Given the description of an element on the screen output the (x, y) to click on. 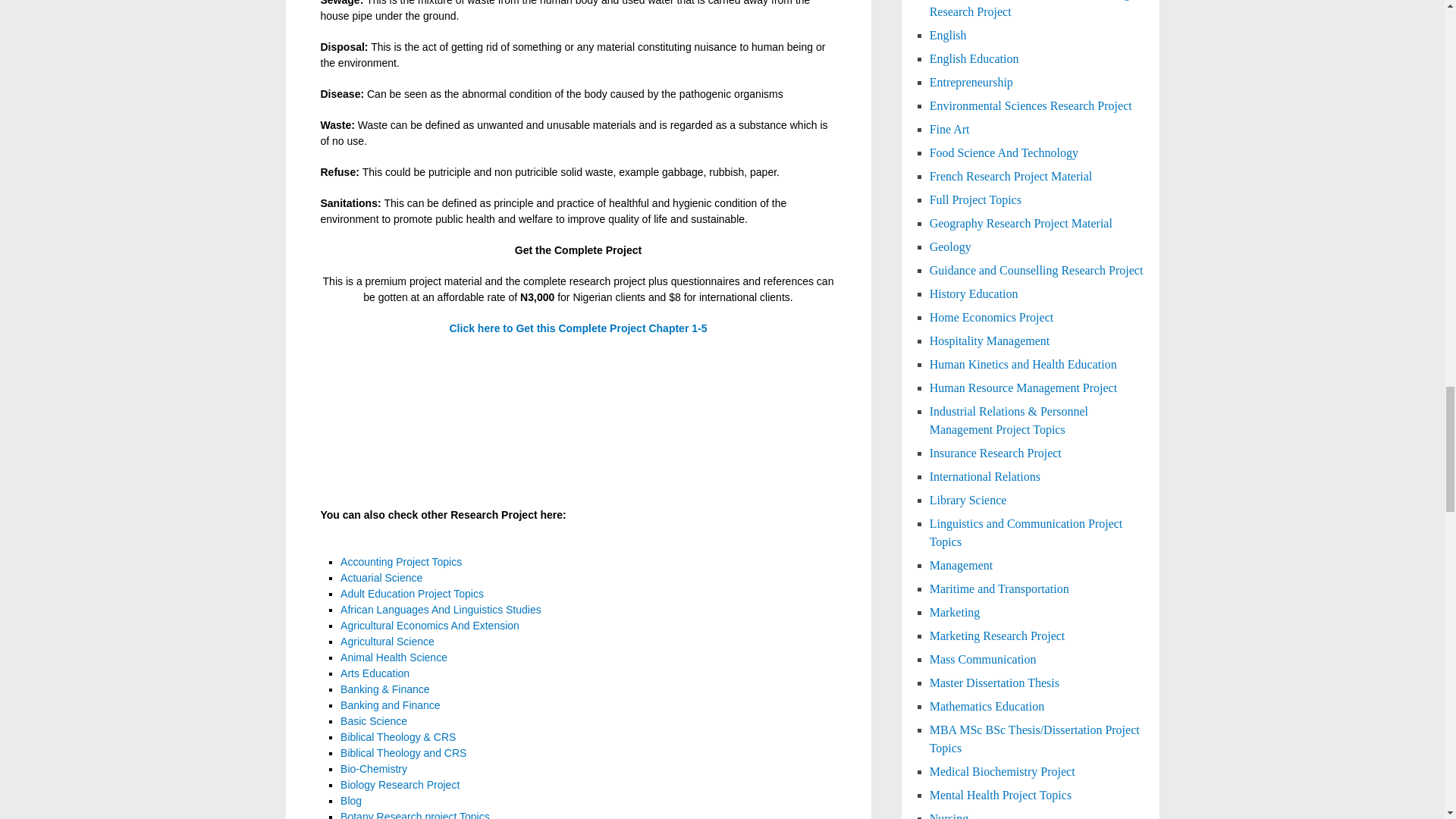
Banking and Finance (390, 705)
Biology Research Project (400, 784)
Actuarial Science (381, 577)
Accounting Project Topics (400, 562)
Adult Education Project Topics (411, 593)
Agricultural Economics And Extension (429, 625)
Basic Science (373, 720)
Biblical Theology and CRS (402, 752)
Animal Health Science (393, 657)
Click here to Get this Complete Project Chapter 1-5 (577, 328)
Bio-Chemistry (373, 768)
Blog (350, 800)
Arts Education (374, 673)
African Languages And Linguistics Studies (440, 609)
Botany Research project Topics (414, 814)
